Given the description of an element on the screen output the (x, y) to click on. 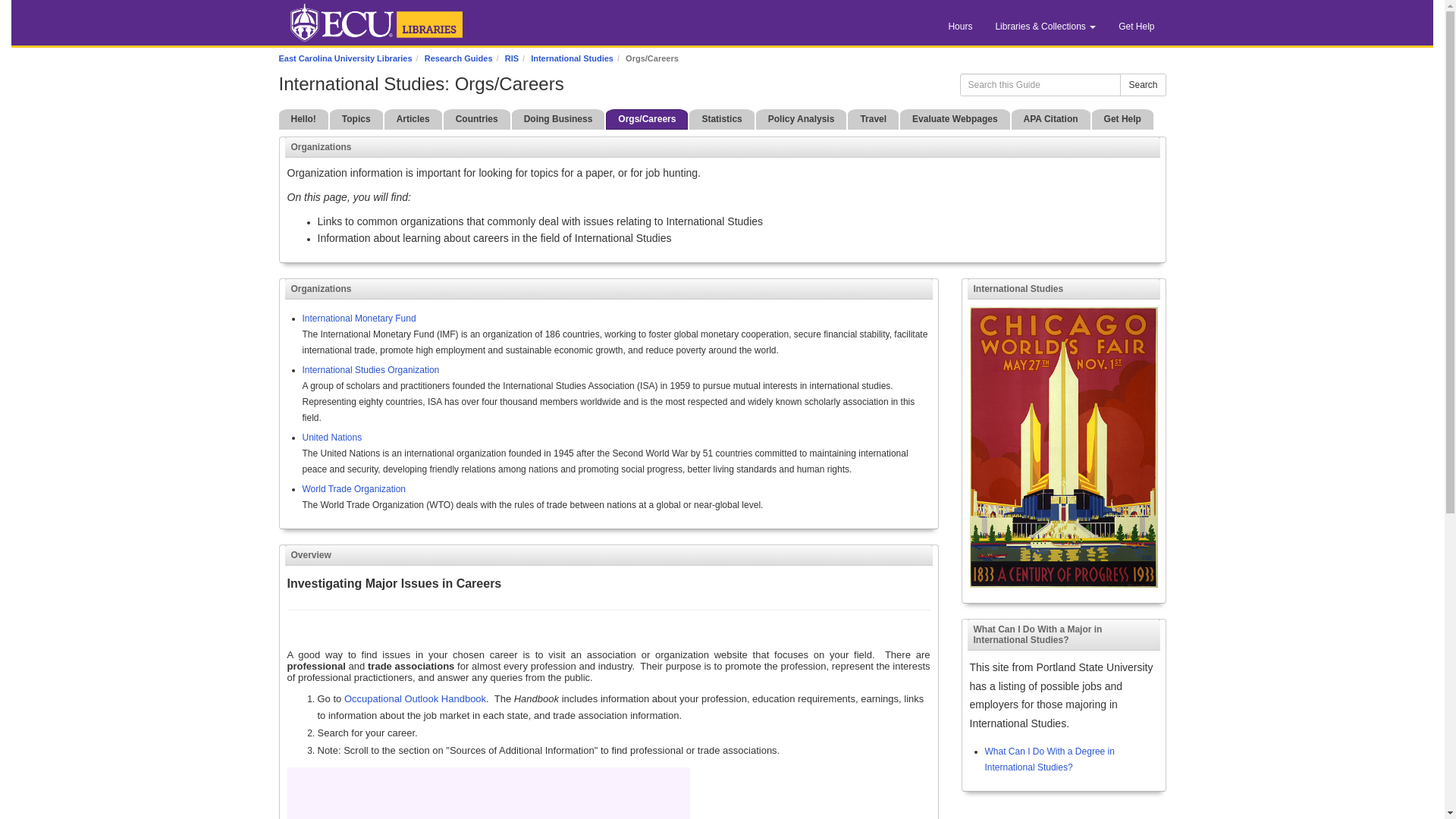
What Can I Do With a Degree in International Studies? (1048, 759)
Hello! (304, 118)
Topics (356, 118)
Travel (872, 118)
Occupational Outlook Handbook (414, 698)
Get Help (1122, 118)
Articles (413, 118)
RIS (511, 58)
Hours (960, 26)
East Carolina University Libraries (376, 20)
Statistics (721, 118)
Research Guides (459, 58)
World Trade Organization (353, 489)
International Studies Organization (370, 369)
East Carolina University Libraries (345, 58)
